Given the description of an element on the screen output the (x, y) to click on. 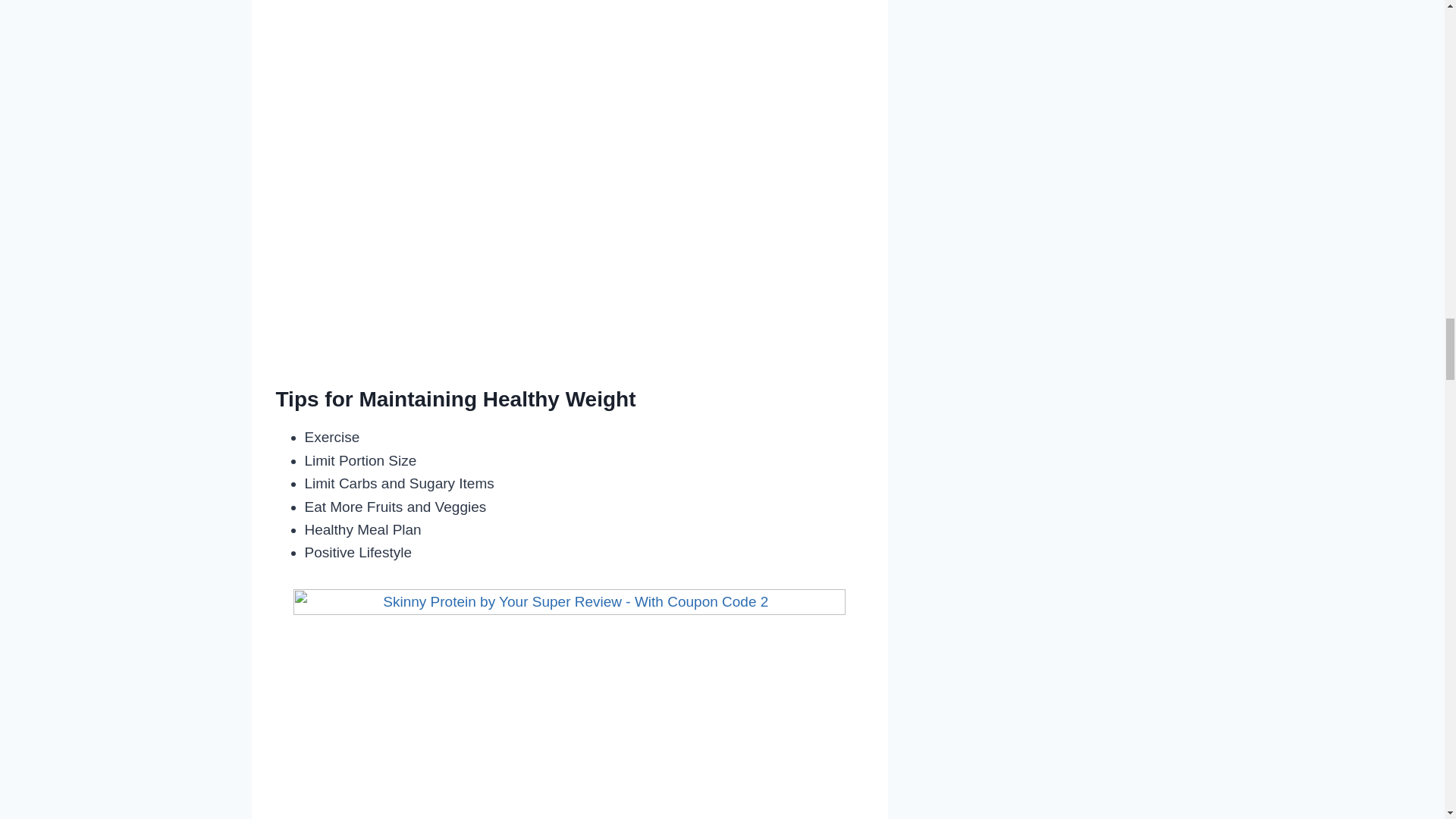
Skinny Protein by Your Super Review - With Coupon Code 2 (569, 622)
